Given the description of an element on the screen output the (x, y) to click on. 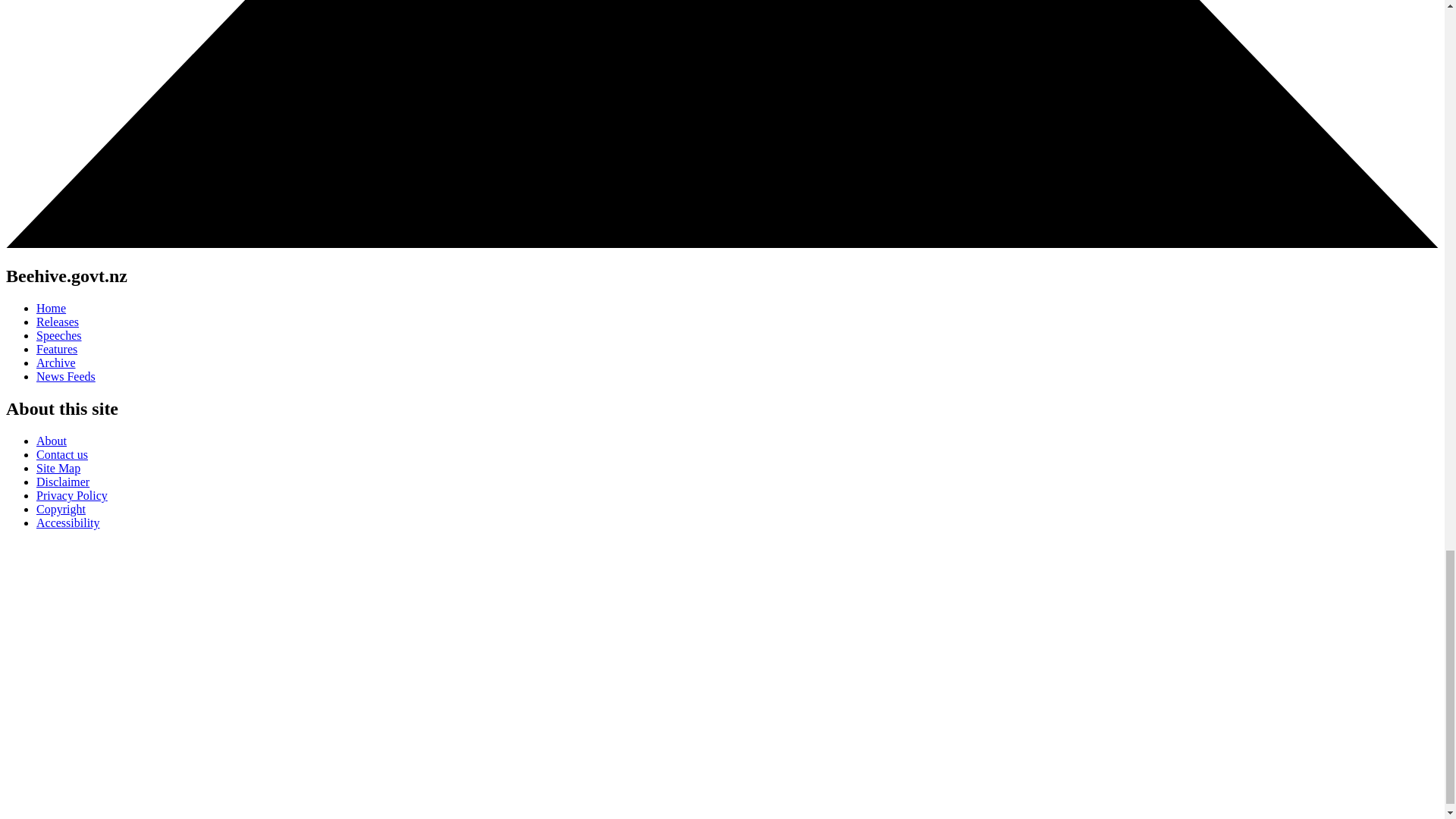
About (51, 440)
Disclaimer (62, 481)
Site Map (58, 468)
Archive (55, 362)
News Feeds (66, 376)
Features (56, 349)
Contact us (61, 454)
Copyright (60, 508)
Releases (57, 321)
Speeches (58, 335)
Home (50, 308)
Privacy Policy (71, 495)
